Given the description of an element on the screen output the (x, y) to click on. 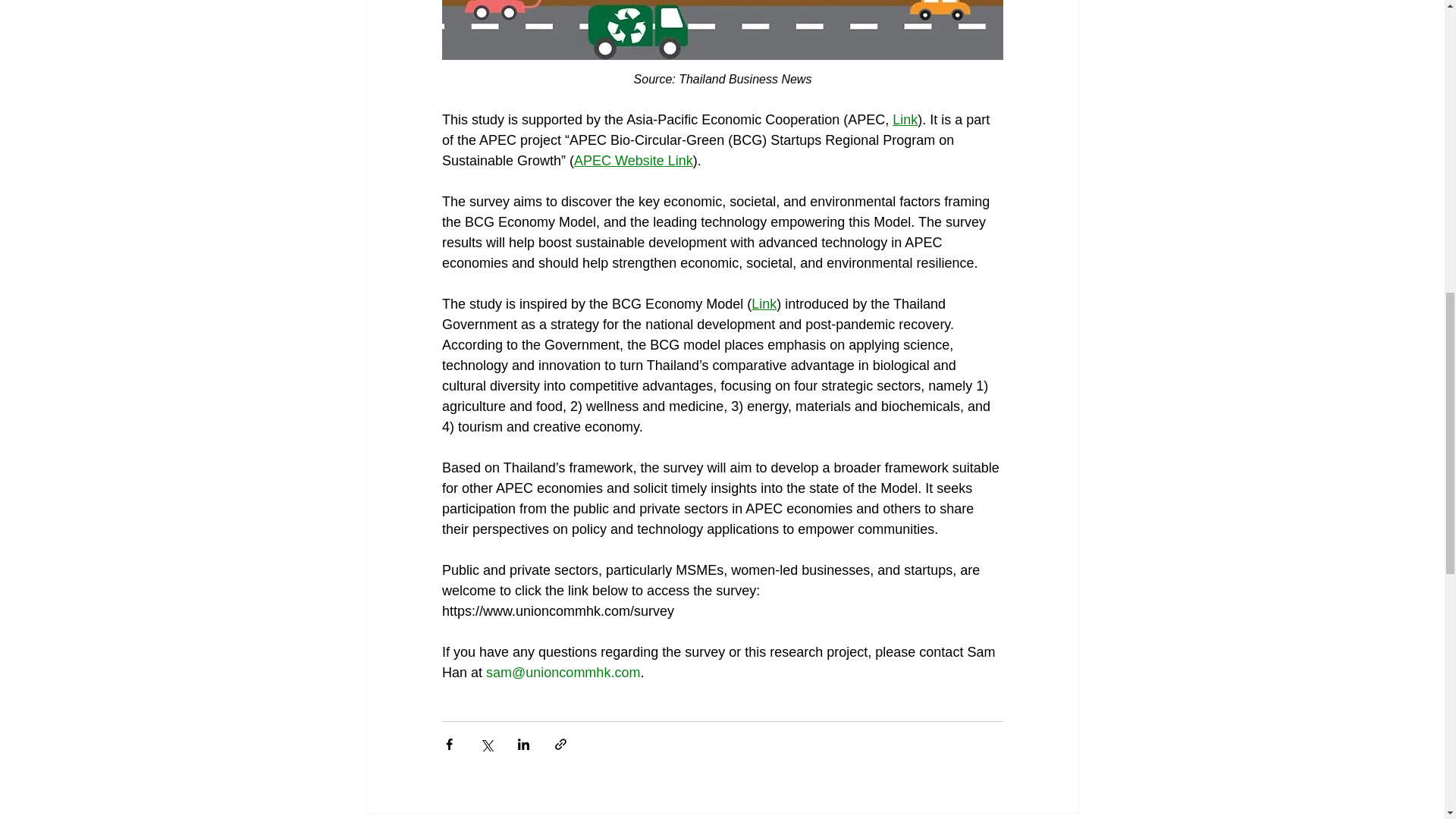
Link (763, 304)
APEC Website Link (633, 160)
Link (904, 119)
